Given the description of an element on the screen output the (x, y) to click on. 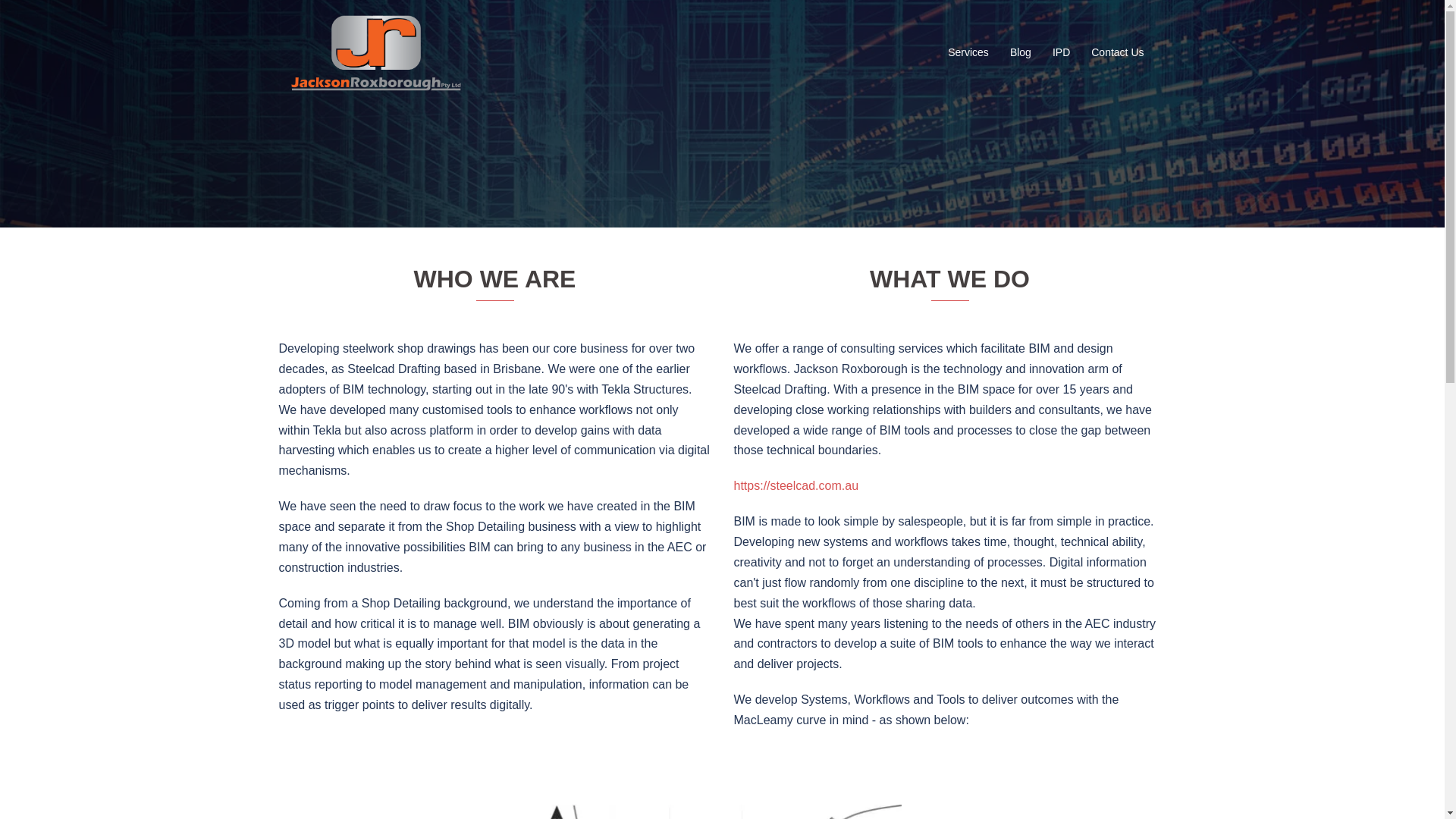
IPD Element type: text (1061, 52)
Contact Us Element type: text (1117, 52)
Jackson Roxborough Element type: hover (375, 51)
Services Element type: text (967, 52)
https://steelcad.com.au Element type: text (796, 485)
Blog Element type: text (1020, 52)
